Given the description of an element on the screen output the (x, y) to click on. 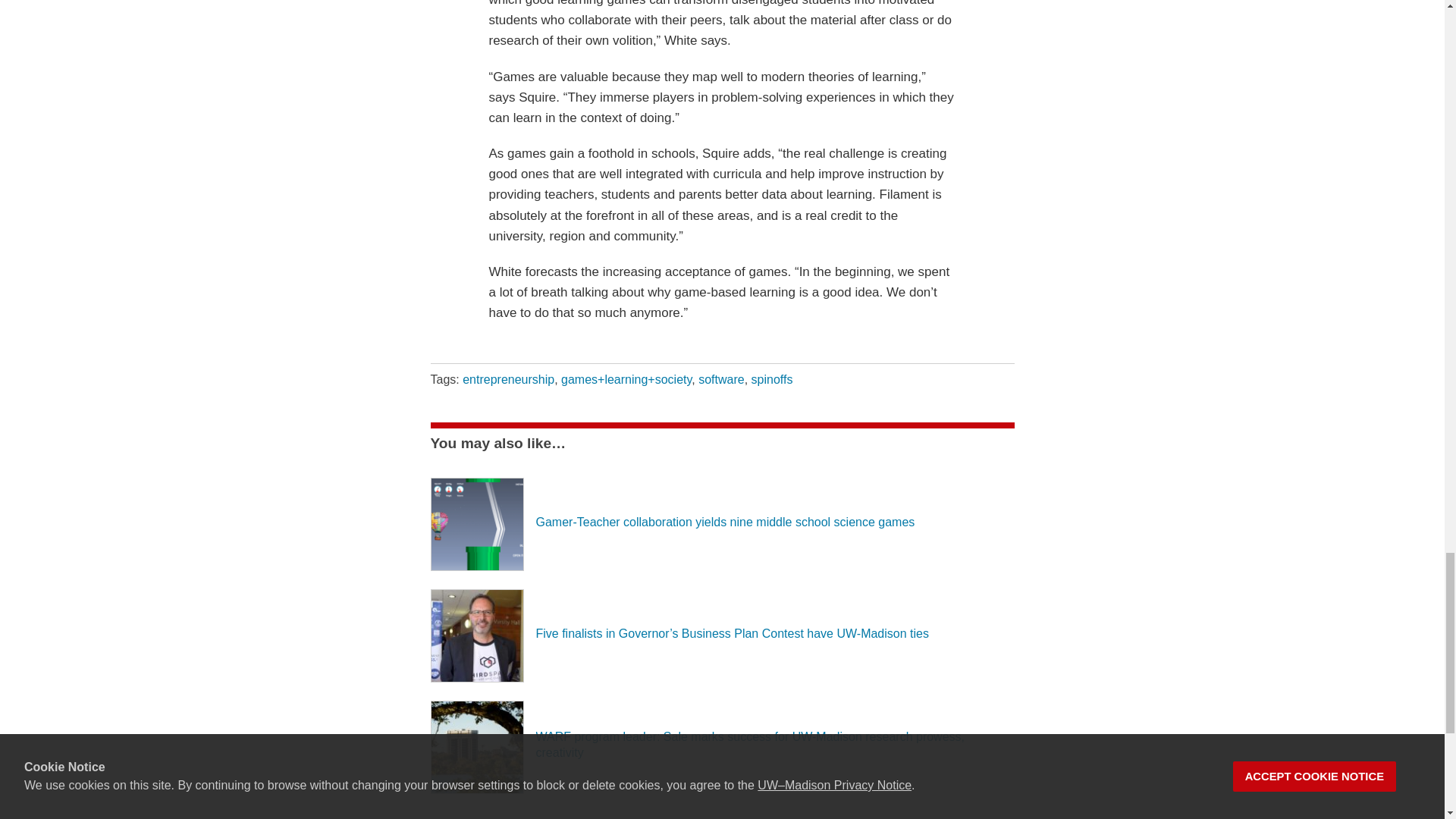
spinoffs (772, 379)
software (721, 379)
entrepreneurship (508, 379)
